Given the description of an element on the screen output the (x, y) to click on. 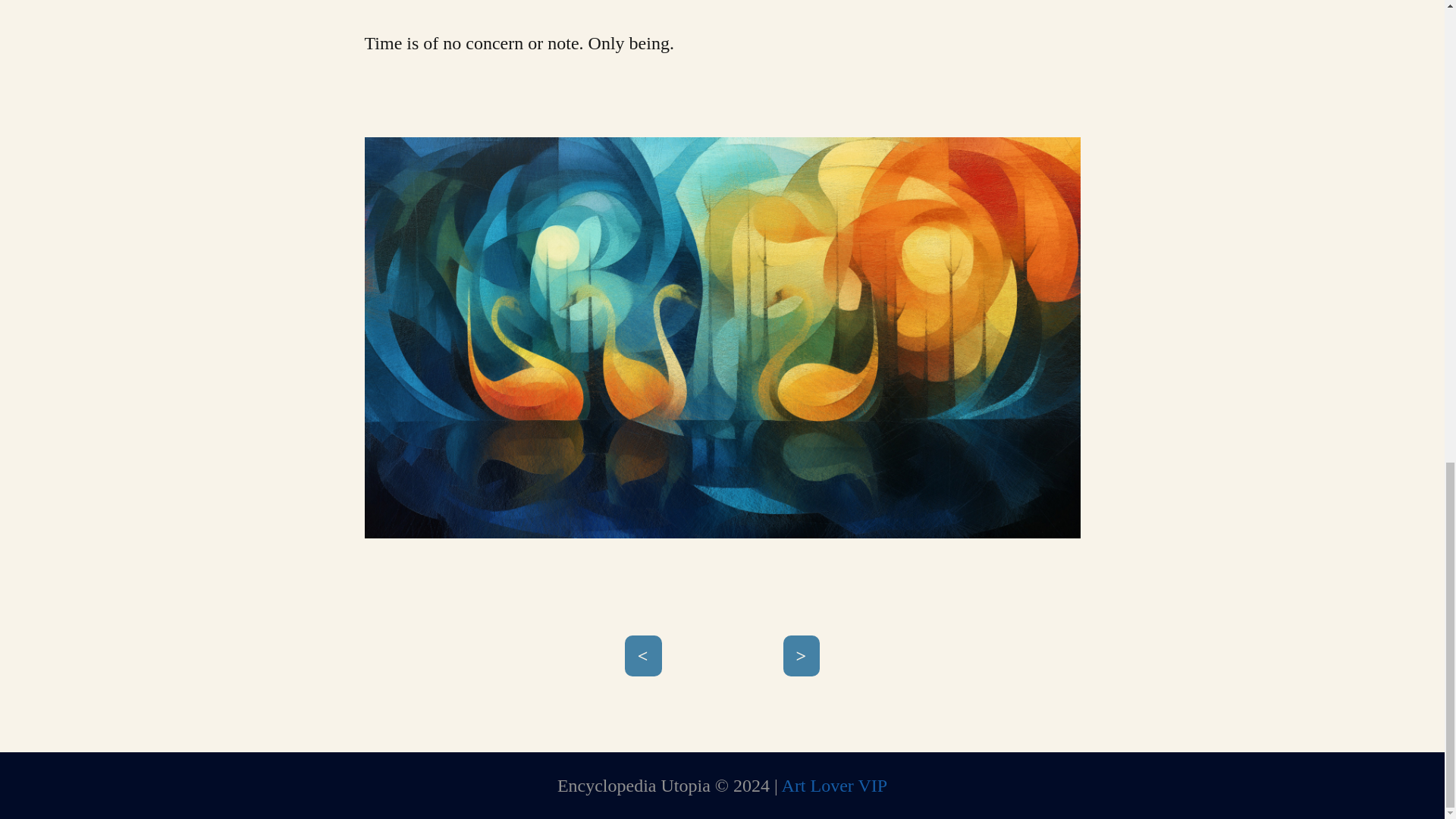
Art Lover VIP (834, 785)
